Given the description of an element on the screen output the (x, y) to click on. 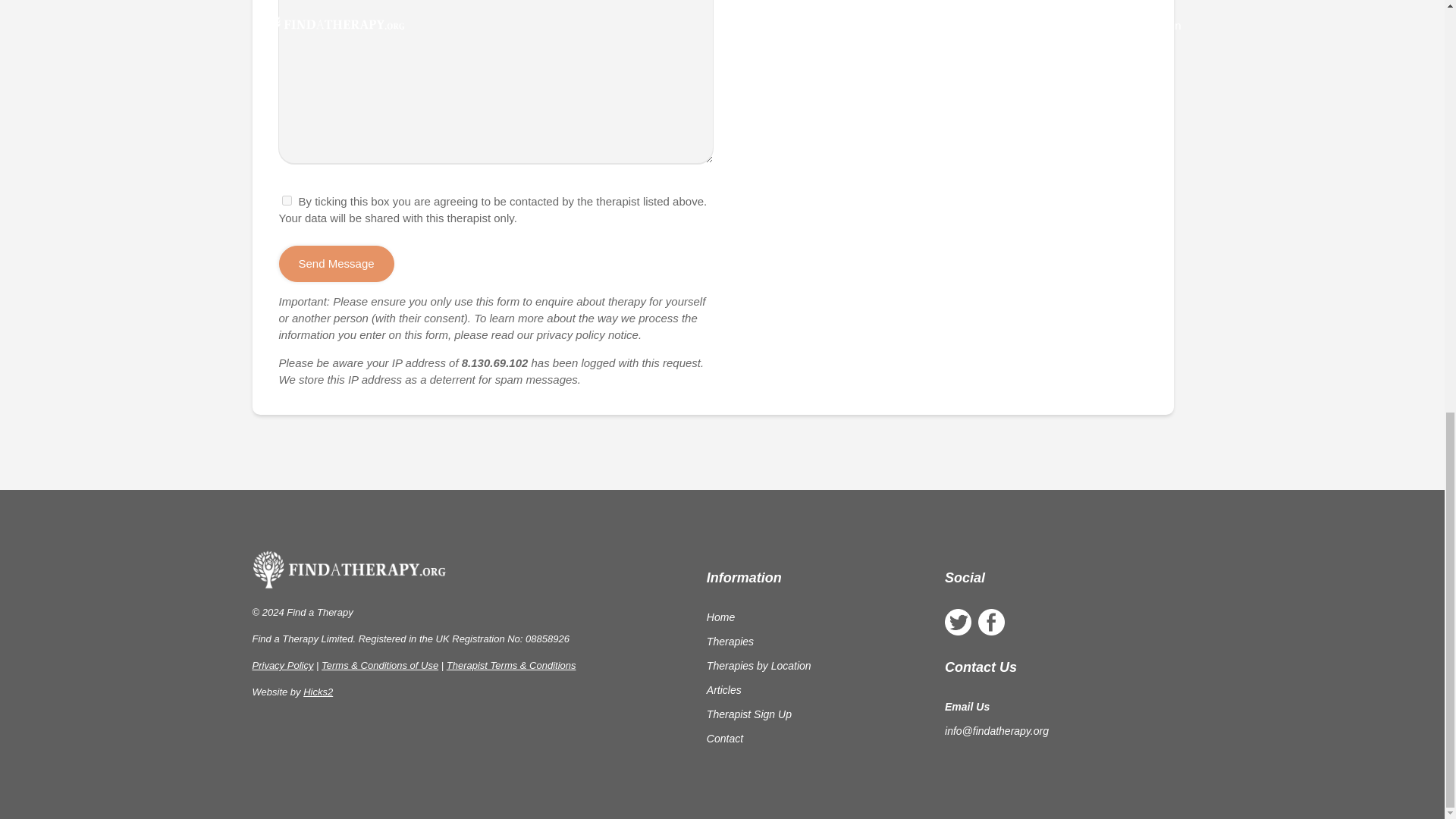
Home (720, 616)
Contact (724, 738)
Therapies (730, 641)
Send Message (336, 263)
Therapist Sign Up (749, 714)
1 (287, 200)
Articles (723, 689)
Therapies by Location (758, 665)
Privacy Policy (282, 665)
Hicks2 (317, 691)
